Given the description of an element on the screen output the (x, y) to click on. 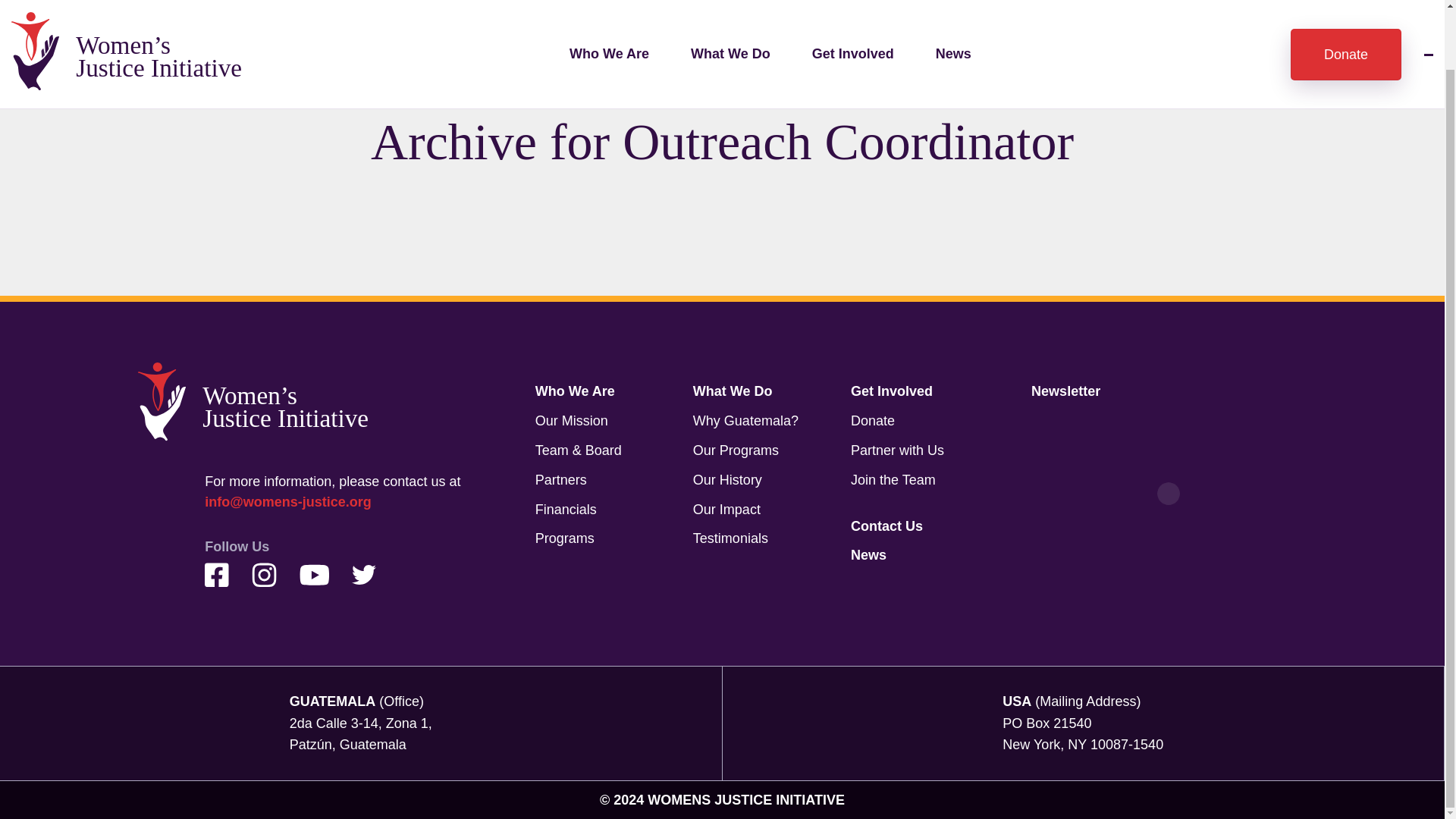
Our Mission (571, 420)
Our Impact (726, 509)
Donate (1345, 7)
Get Involved (891, 391)
Join the Team (893, 479)
Financials (565, 509)
Our History (727, 479)
Partners (560, 479)
Who We Are (574, 391)
Testimonials (730, 538)
